Given the description of an element on the screen output the (x, y) to click on. 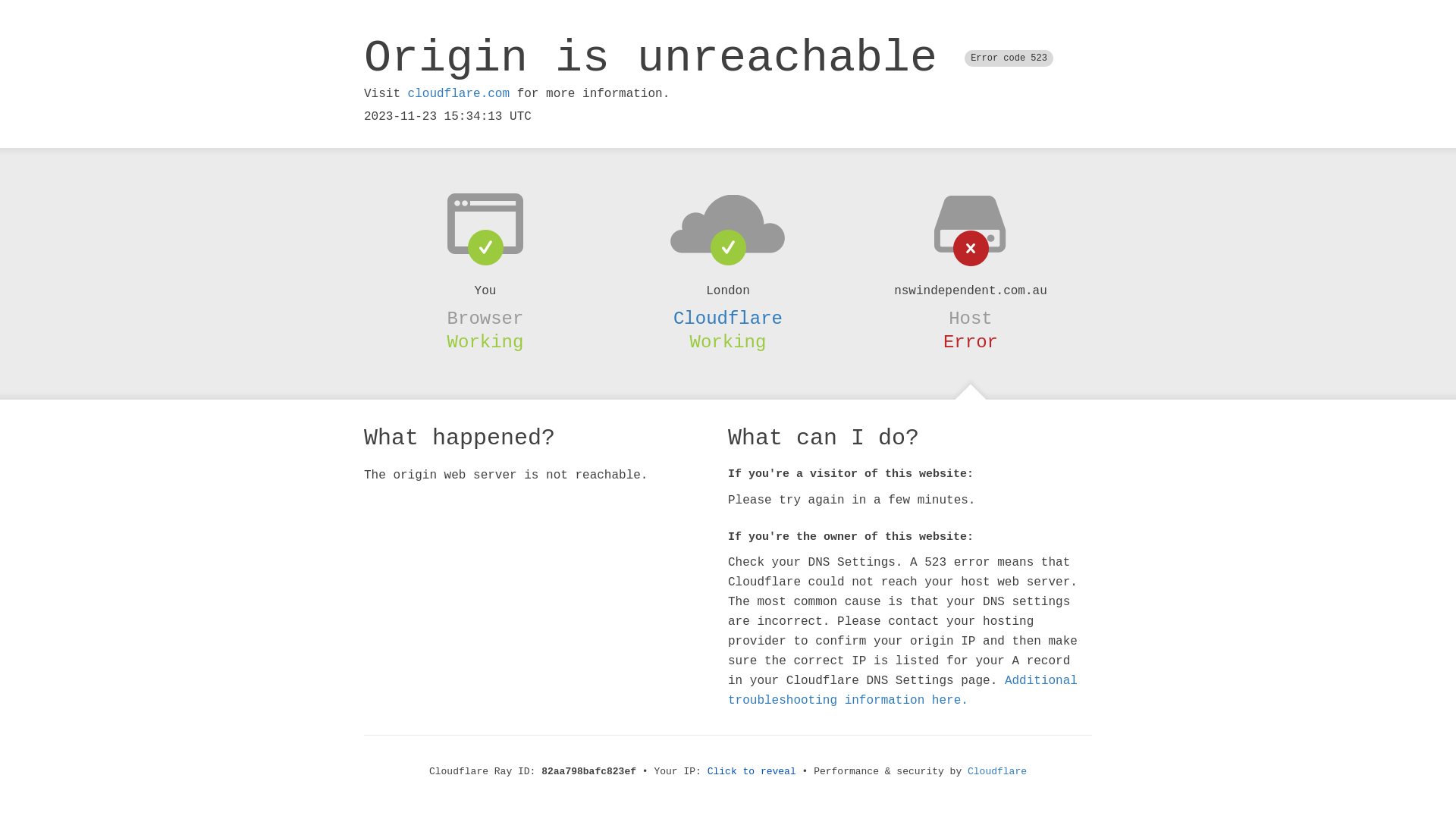
Additional troubleshooting information here. Element type: text (902, 690)
Click to reveal Element type: text (751, 771)
cloudflare.com Element type: text (458, 93)
Cloudflare Element type: text (727, 318)
Cloudflare Element type: text (996, 771)
